Given the description of an element on the screen output the (x, y) to click on. 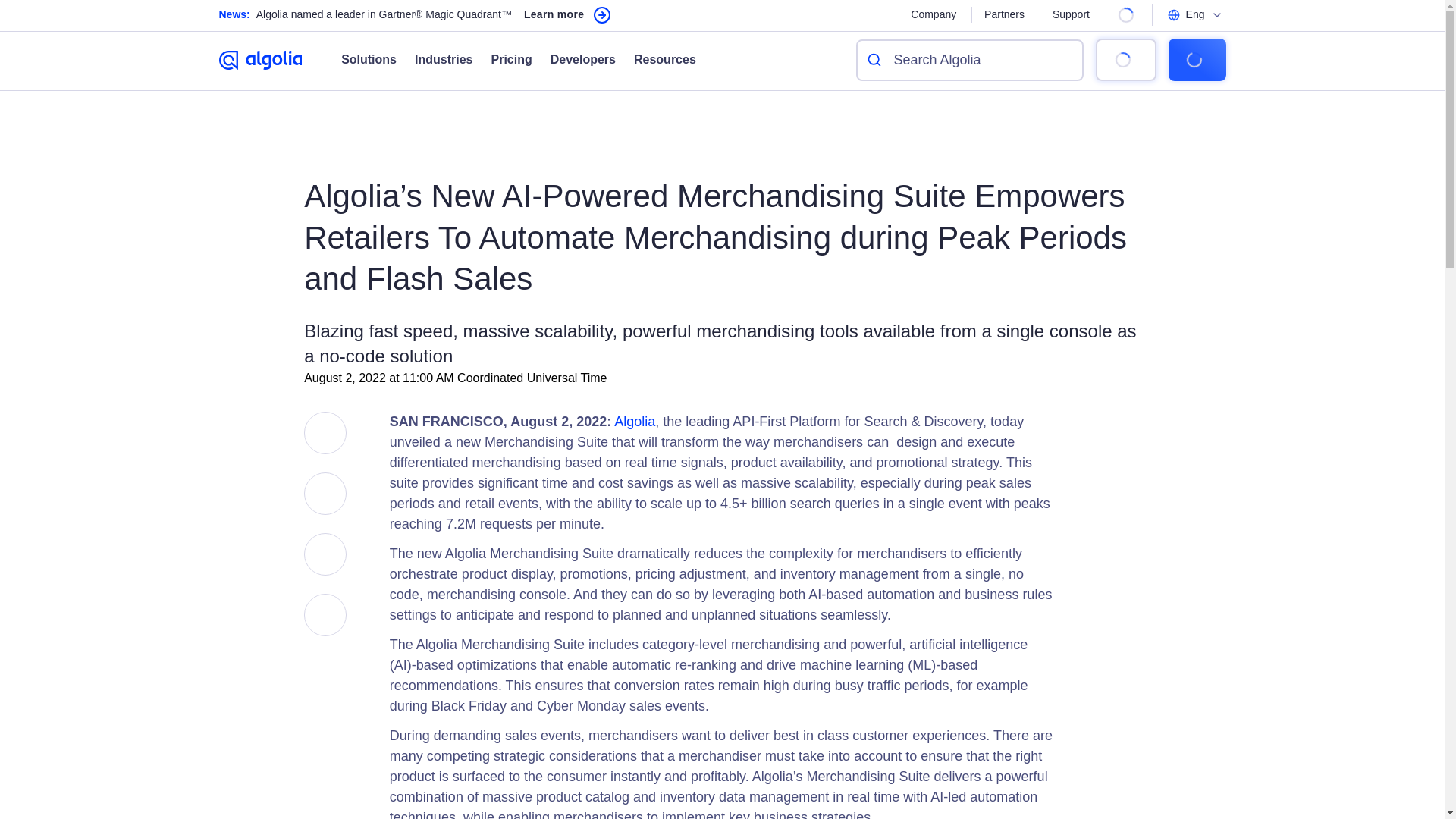
Resources (655, 59)
Solutions (368, 59)
Developers (573, 59)
ArrowRightCircle (601, 14)
Pricing (501, 59)
Industries (433, 59)
